Given the description of an element on the screen output the (x, y) to click on. 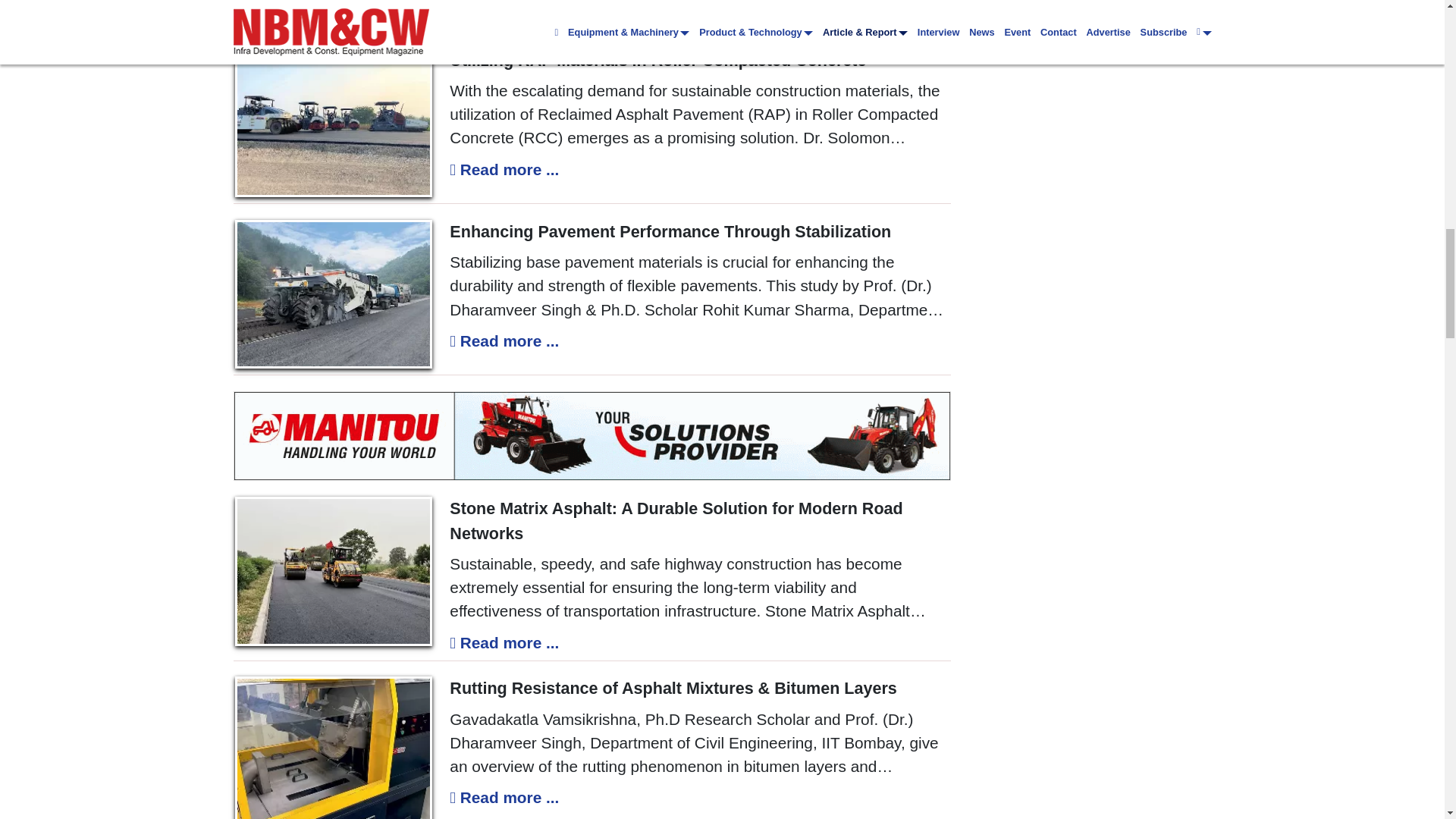
Manitou Handling Your World (591, 435)
